Given the description of an element on the screen output the (x, y) to click on. 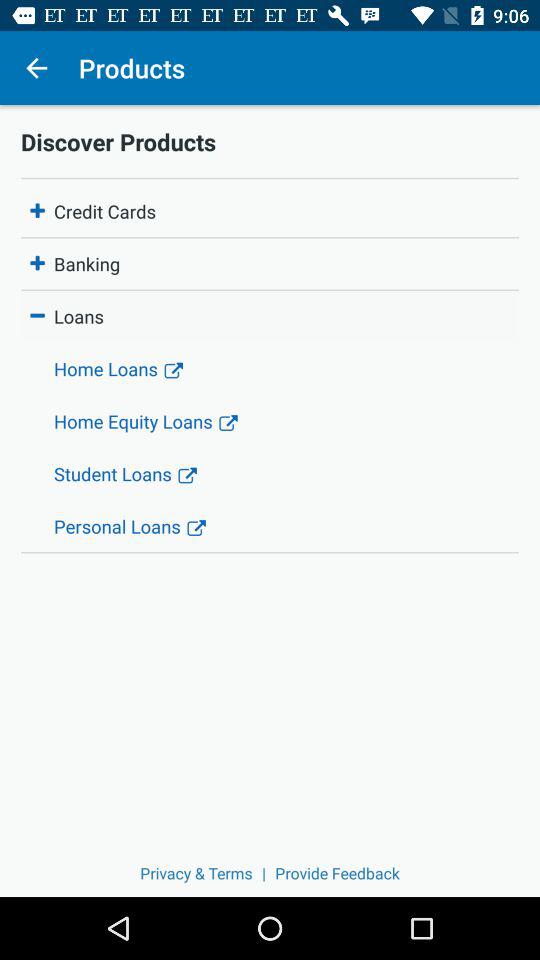
select the icon next to | (196, 872)
